Given the description of an element on the screen output the (x, y) to click on. 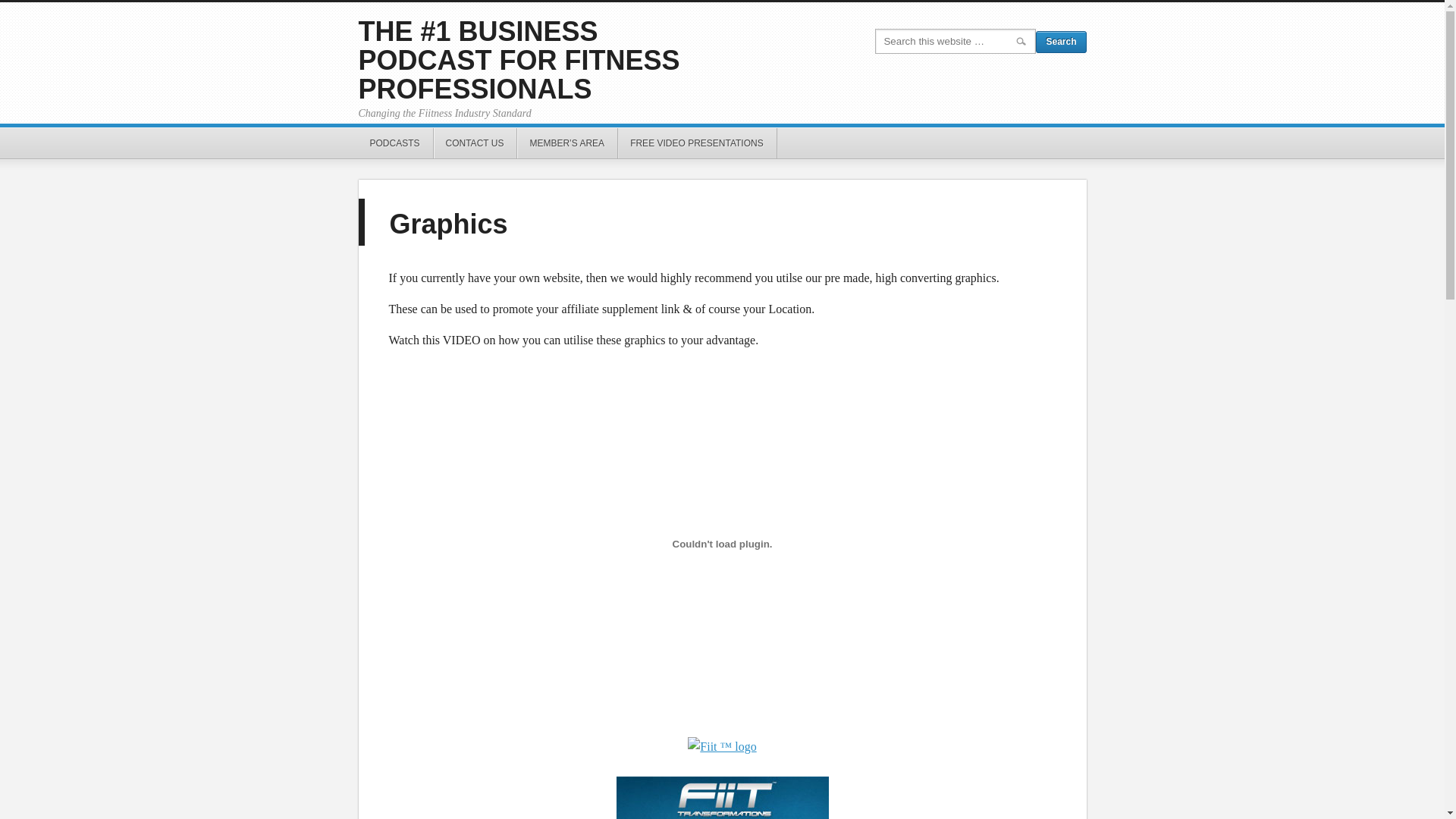
CONTACT US Element type: text (475, 143)
PODCASTS Element type: text (394, 143)
THE #1 BUSINESS PODCAST FOR FITNESS PROFESSIONALS Element type: text (518, 59)
Search Element type: text (1060, 42)
